Given the description of an element on the screen output the (x, y) to click on. 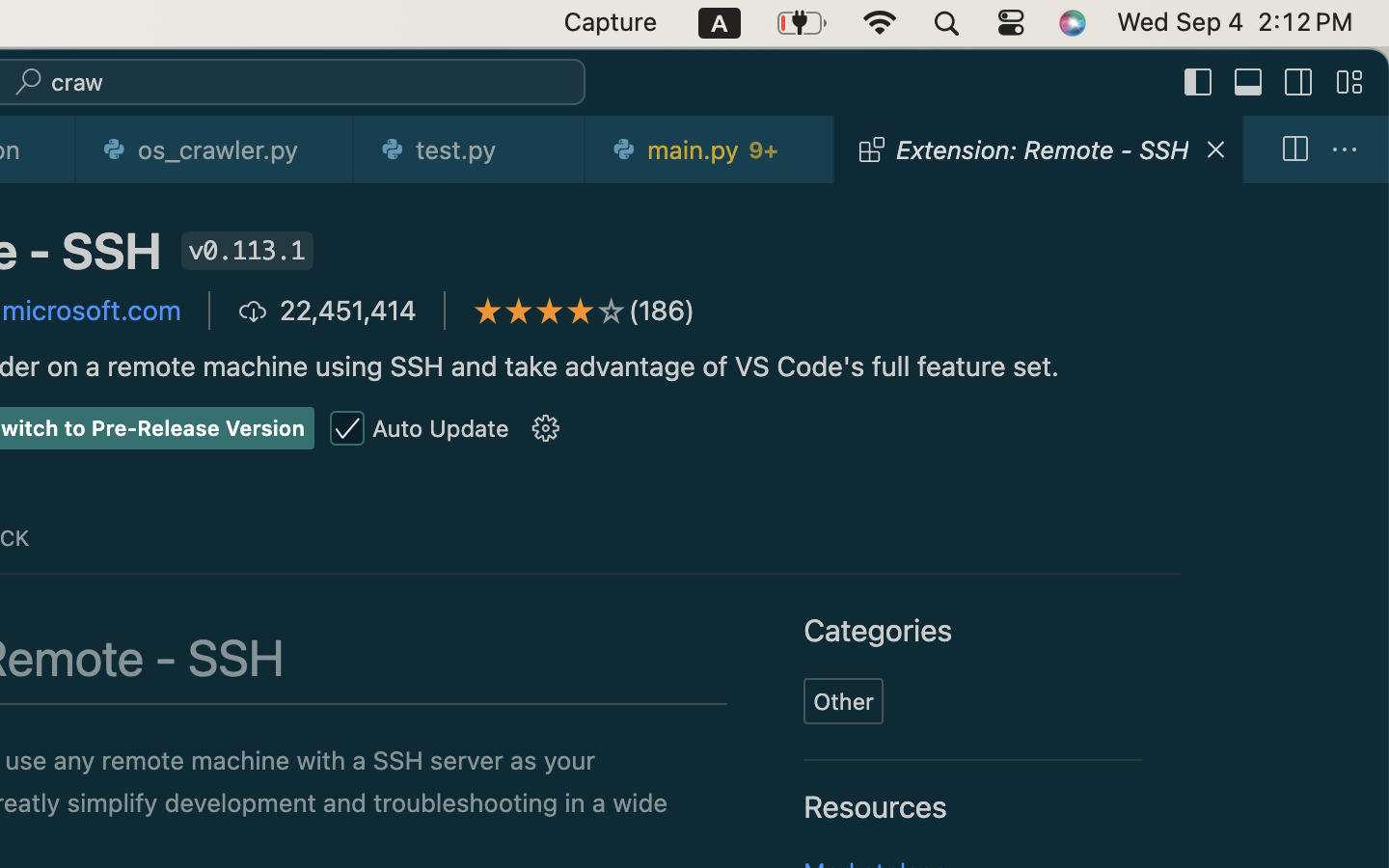
0 os_crawler.py   Element type: AXRadioButton (214, 149)
0 main.py   9+ Element type: AXRadioButton (710, 149)
22,451,414  Element type: AXGroup (326, 310)
 Element type: AXStaticText (611, 310)
 Element type: AXButton (1349, 82)
